Given the description of an element on the screen output the (x, y) to click on. 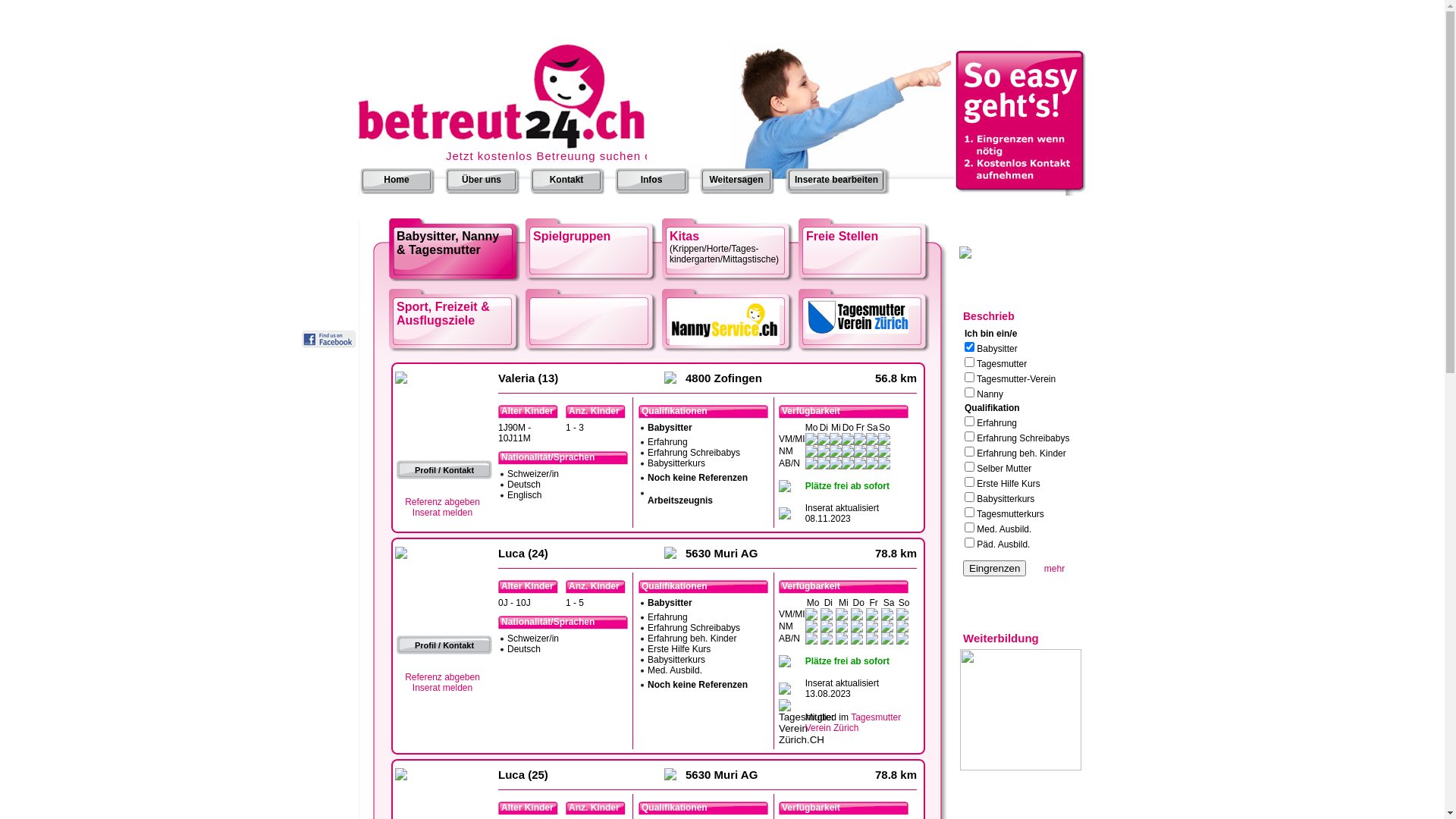
Inserat melden Element type: text (442, 512)
Profil / Kontakt Element type: text (444, 644)
Eingrenzen Element type: text (994, 568)
Profil / Kontakt Element type: text (444, 469)
Arbeitszeugnis Element type: text (679, 500)
Referenz abgeben Element type: text (442, 501)
Inserat melden Element type: text (442, 687)
Referenz abgeben Element type: text (442, 676)
mehr Element type: text (1054, 568)
